Given the description of an element on the screen output the (x, y) to click on. 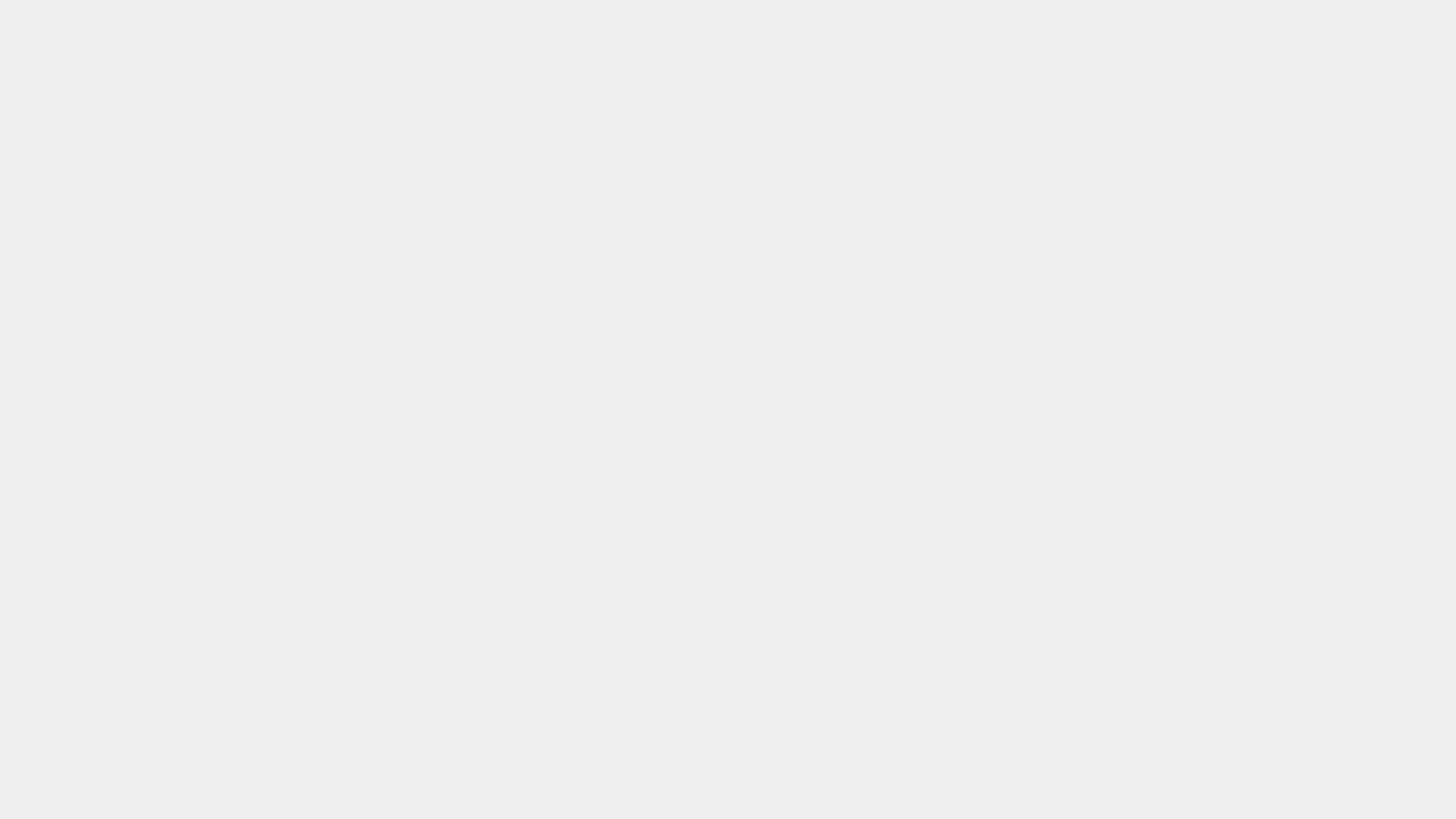
Living Word BookStore Element type: text (926, 92)
Visit Element type: text (643, 92)
Contact Element type: text (1092, 92)
Who We Are Element type: text (583, 92)
Daily Devotions Element type: text (769, 92)
Facebook Element type: hover (1114, 18)
Home Element type: text (520, 92)
Church Family Element type: text (1027, 92)
Tumblr Element type: hover (1152, 18)
www.qb.org.au Element type: text (812, 796)
Sermons Element type: text (839, 92)
Connect Element type: text (692, 92)
